Given the description of an element on the screen output the (x, y) to click on. 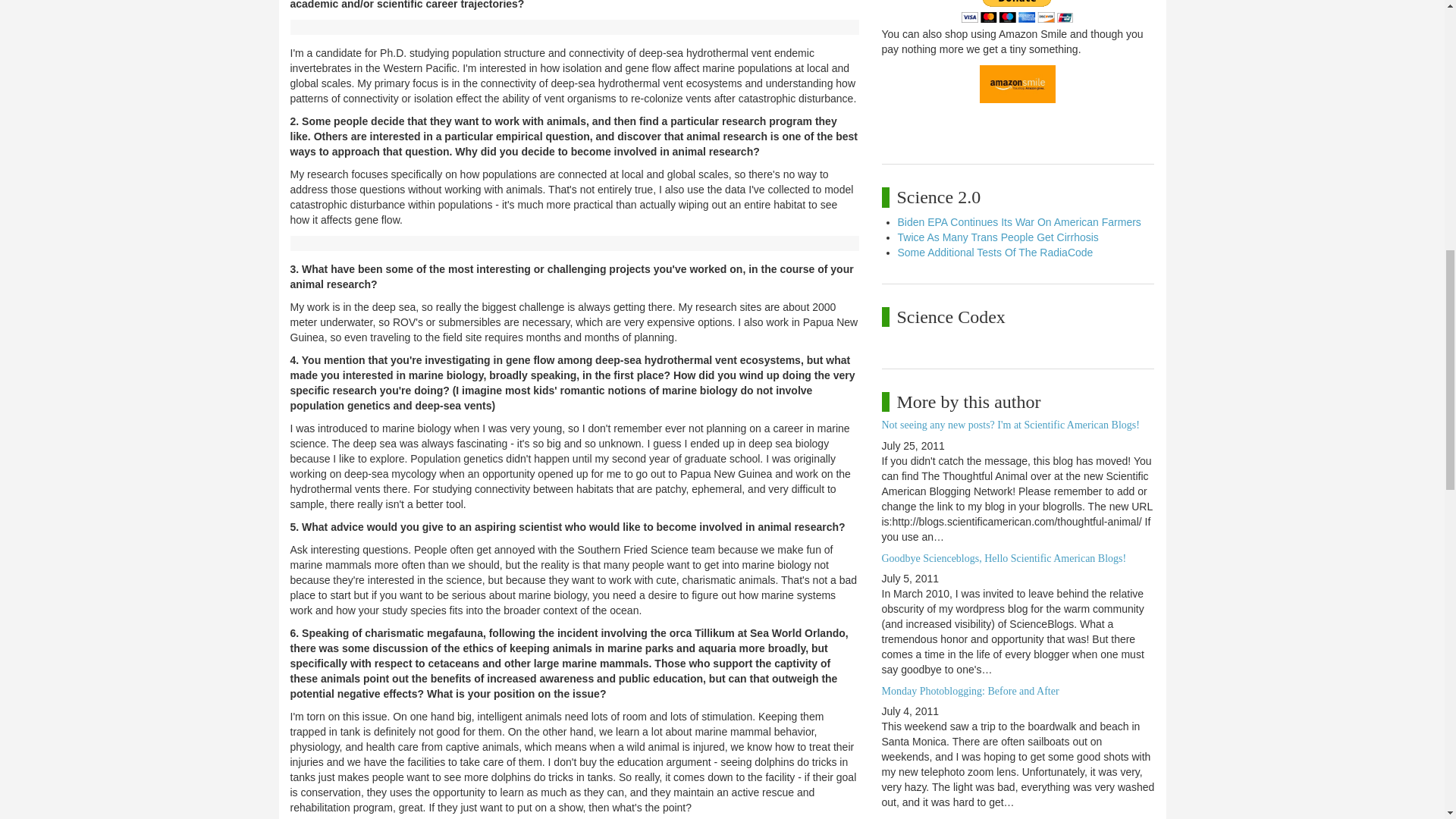
PayPal - The safer, easier way to pay online! (1016, 11)
